Given the description of an element on the screen output the (x, y) to click on. 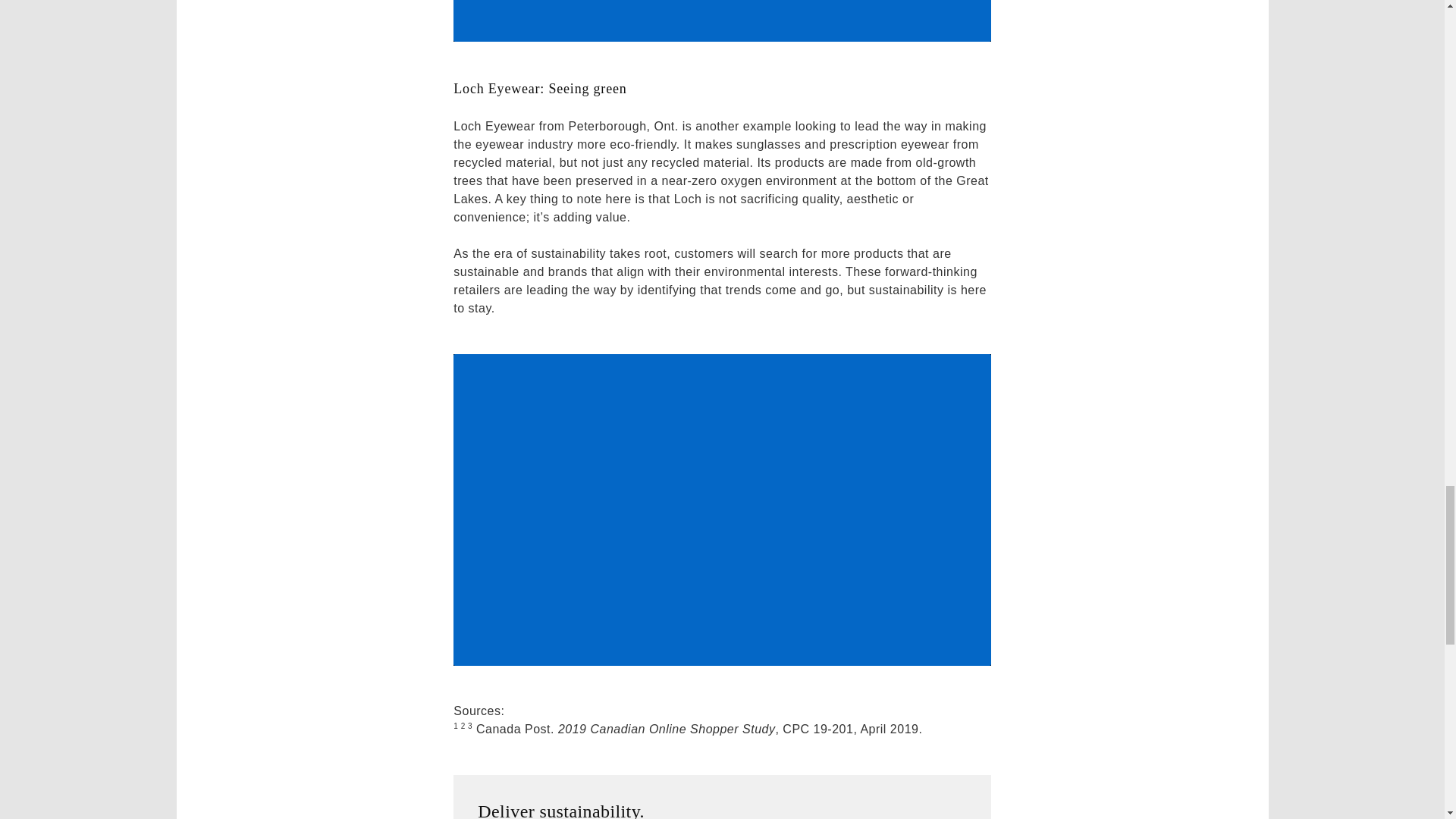
Video: Nespresso: Recycle by mail (721, 20)
Play video (721, 20)
